Given the description of an element on the screen output the (x, y) to click on. 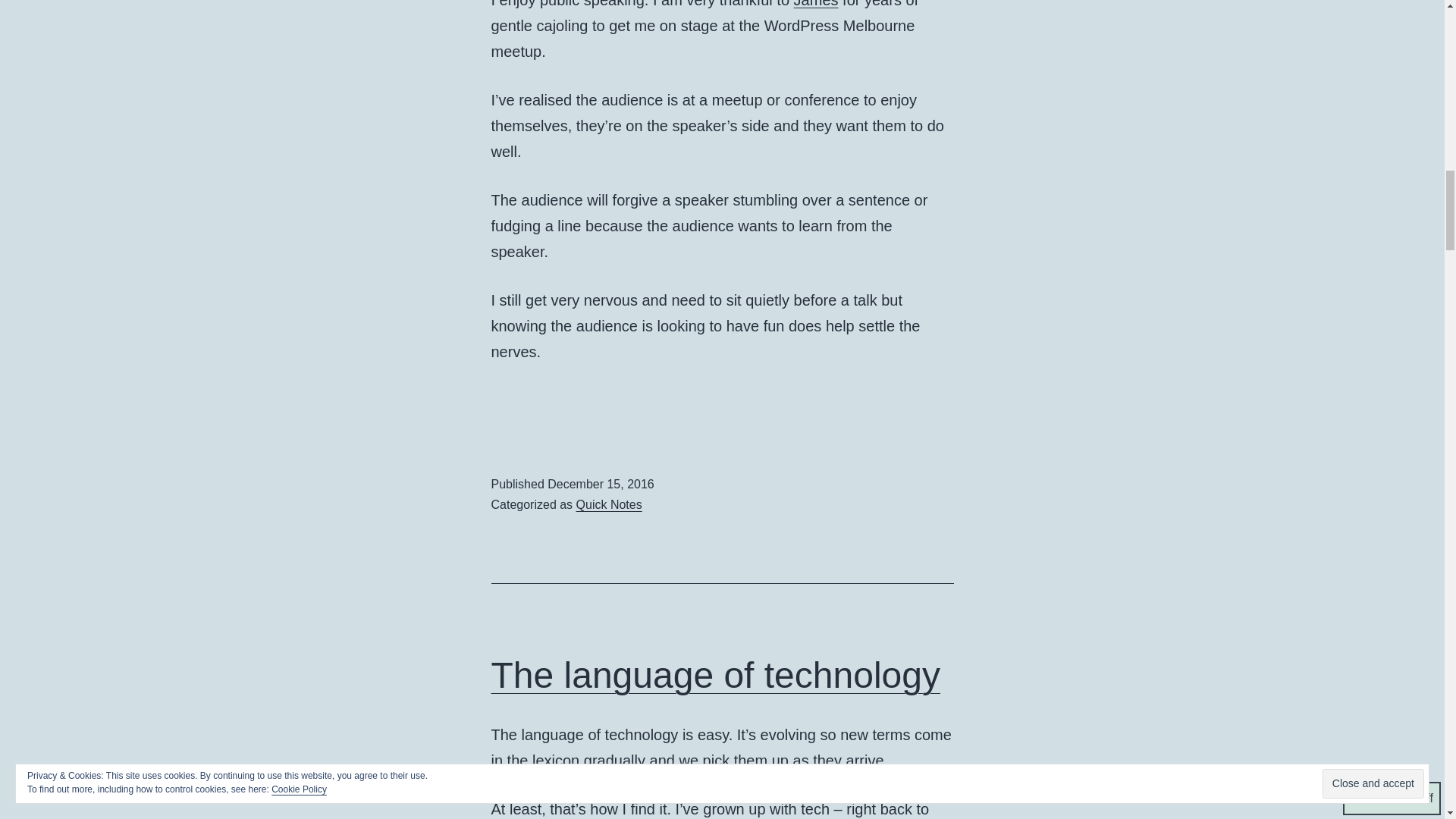
The language of technology (716, 675)
Quick Notes (609, 504)
James (815, 4)
